Given the description of an element on the screen output the (x, y) to click on. 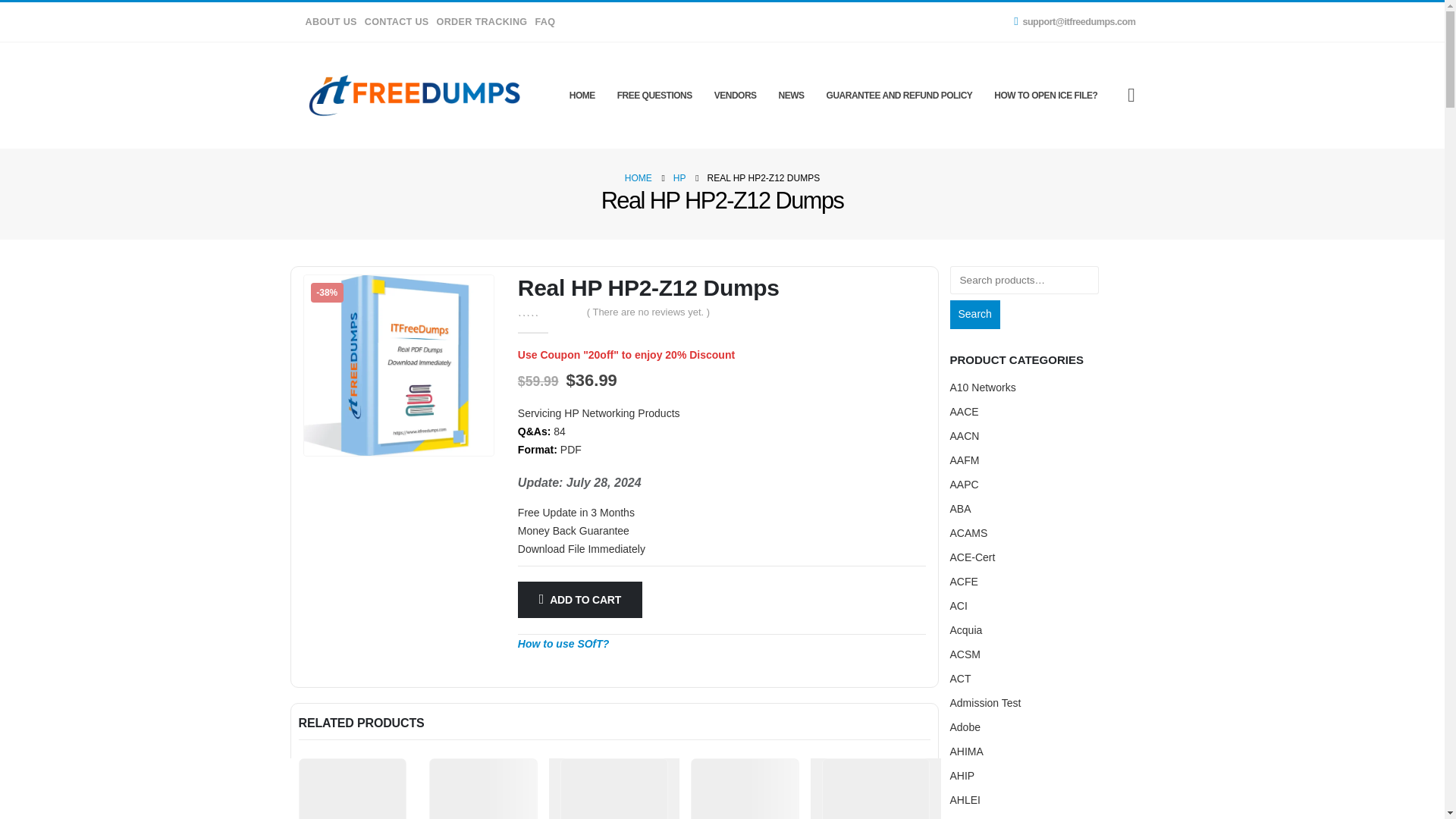
CONTACT US (396, 22)
FAQ (542, 22)
HOW TO OPEN ICE FILE? (1046, 95)
How to use SOfT? (564, 644)
ABOUT US (331, 22)
0 (547, 311)
HOME (638, 177)
GUARANTEE AND REFUND POLICY (899, 95)
ADD TO CART (580, 599)
FREE QUESTIONS (655, 95)
ORDER TRACKING (481, 22)
Go to Home Page (638, 177)
